Given the description of an element on the screen output the (x, y) to click on. 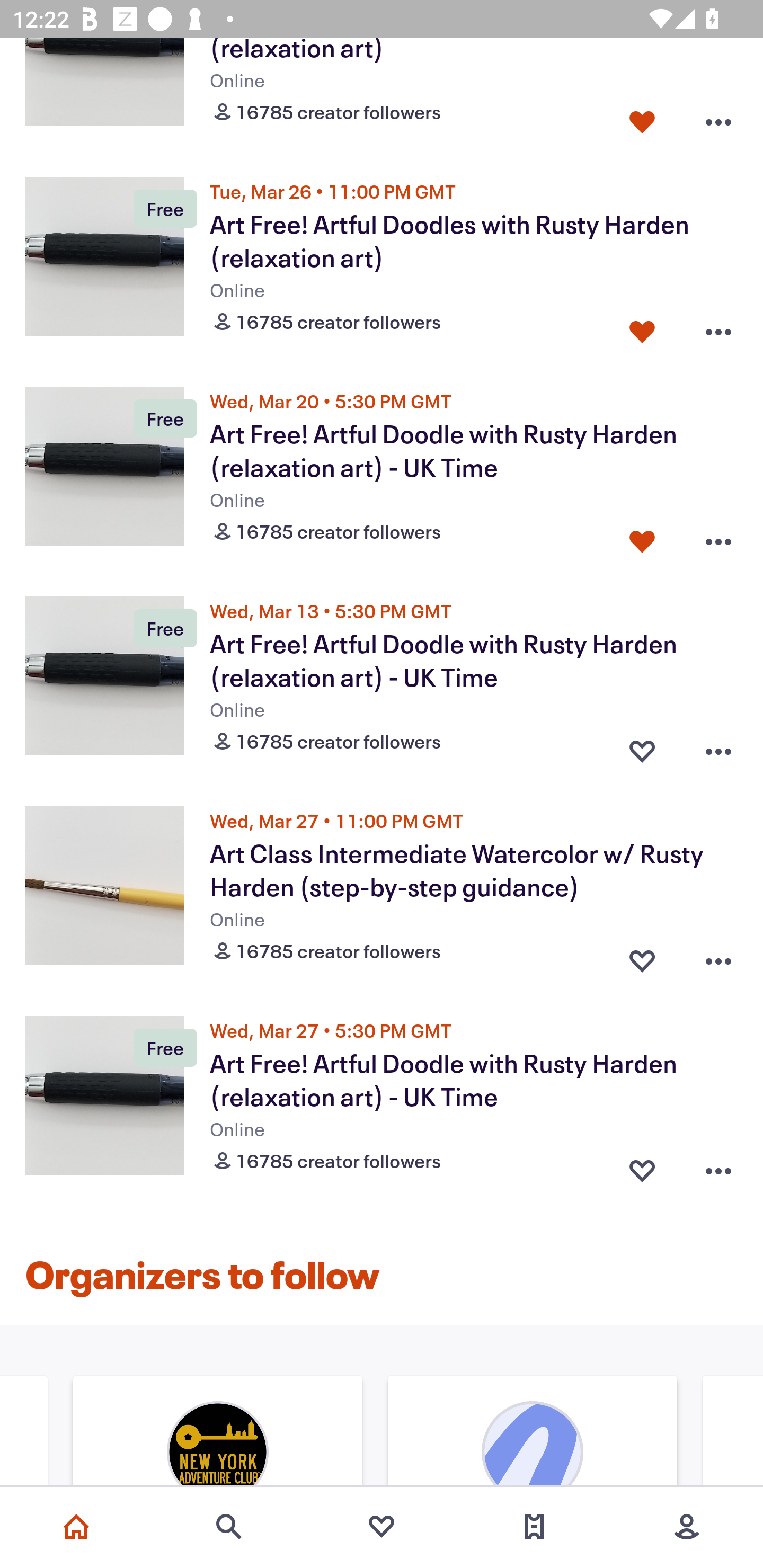
Favorite button (642, 118)
Overflow menu button (718, 118)
Favorite button (642, 327)
Overflow menu button (718, 327)
Favorite button (642, 536)
Overflow menu button (718, 536)
Favorite button (642, 746)
Overflow menu button (718, 746)
Favorite button (642, 956)
Overflow menu button (718, 956)
Favorite button (642, 1167)
Overflow menu button (718, 1167)
Organizer's image (217, 1433)
Organizer's image (532, 1433)
Home (76, 1526)
Search events (228, 1526)
Favorites (381, 1526)
Tickets (533, 1526)
More (686, 1526)
